Given the description of an element on the screen output the (x, y) to click on. 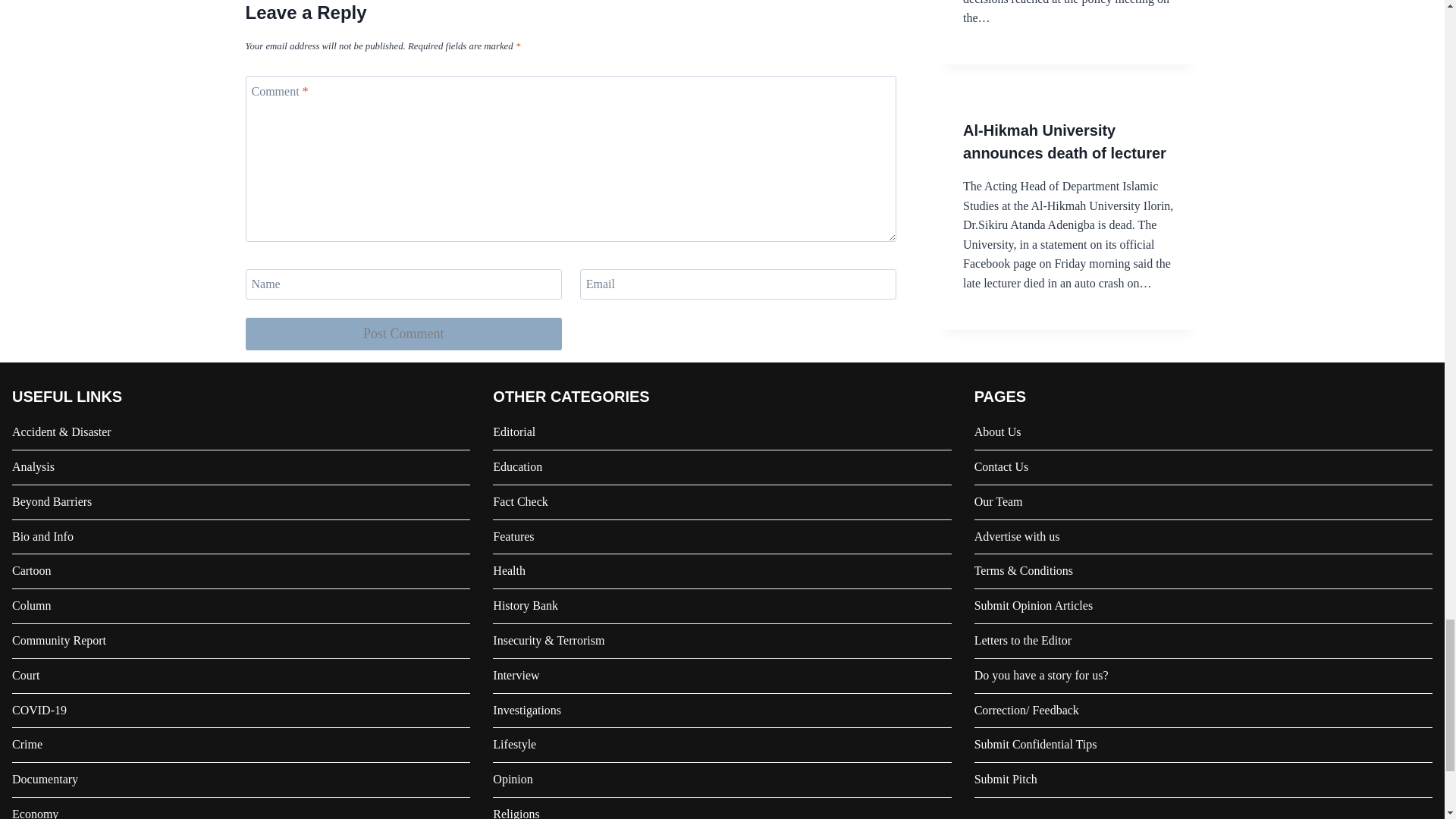
Post Comment (404, 333)
